Given the description of an element on the screen output the (x, y) to click on. 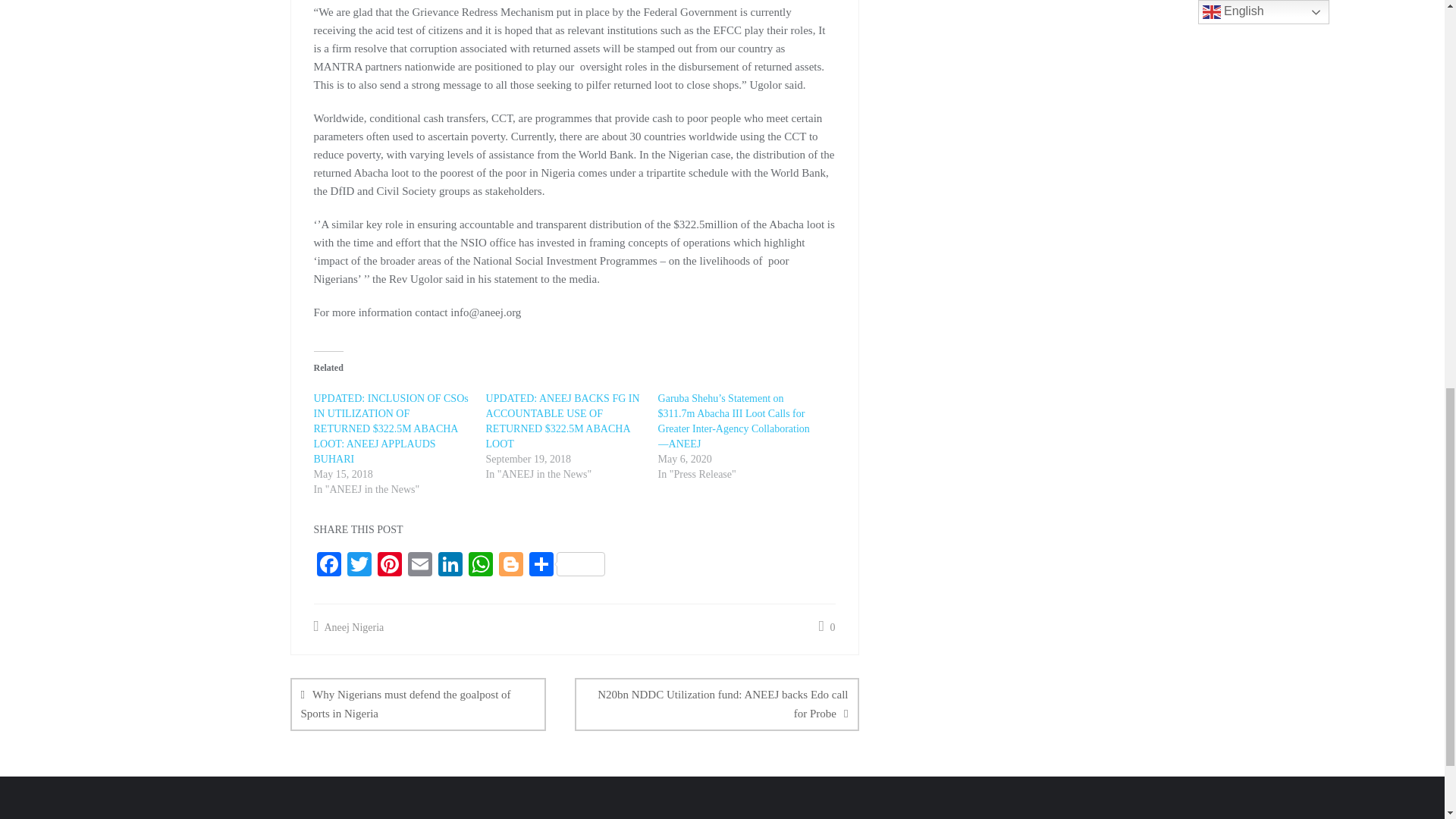
Email (419, 565)
Facebook (328, 565)
Pinterest (389, 565)
WhatsApp (480, 565)
Twitter (358, 565)
Blogger (510, 565)
LinkedIn (450, 565)
